Given the description of an element on the screen output the (x, y) to click on. 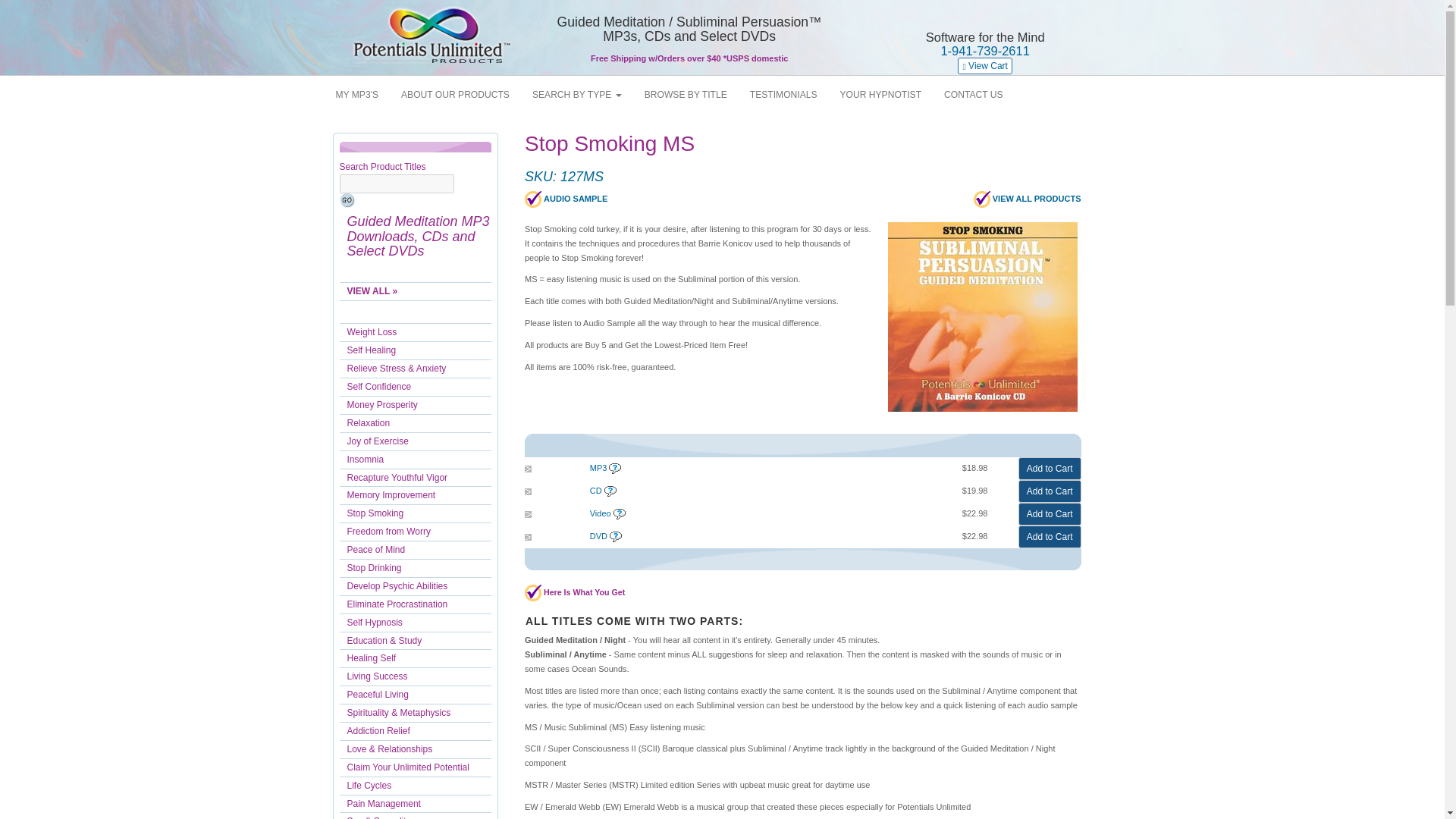
Self Healing (415, 350)
Develop Psychic Abilities (415, 586)
Add to Cart (1049, 513)
Search By Title (685, 94)
MP3 (357, 94)
Potentials Unlimited (430, 36)
Memory Improvement (415, 495)
Self Confidence (415, 386)
Relaxation (415, 423)
Money Prosperity (415, 404)
                 Self Healing Self Hypnosis (415, 350)
Add to Cart (1049, 490)
Stop Smoking (415, 513)
Contact Us (973, 94)
Barrie Konicov (880, 94)
